Given the description of an element on the screen output the (x, y) to click on. 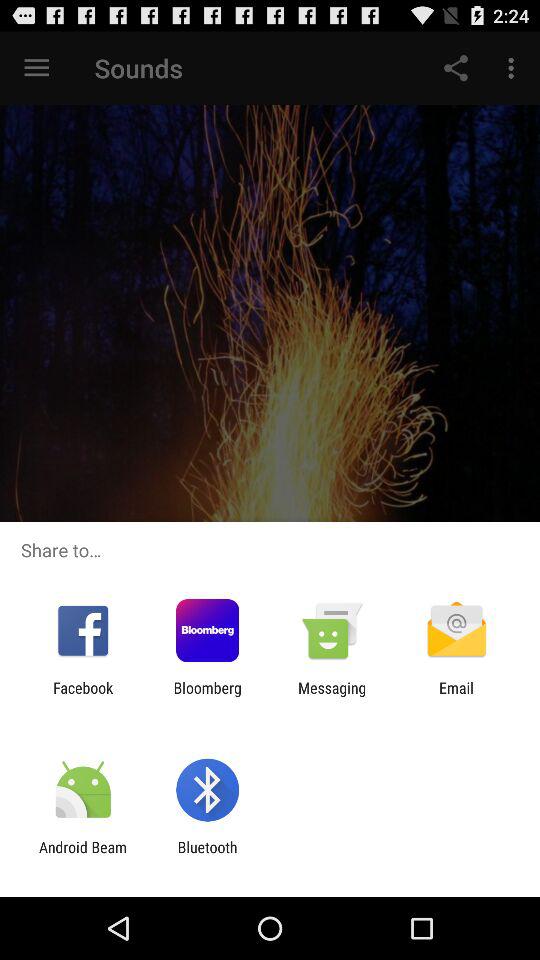
select icon to the right of android beam (207, 856)
